Given the description of an element on the screen output the (x, y) to click on. 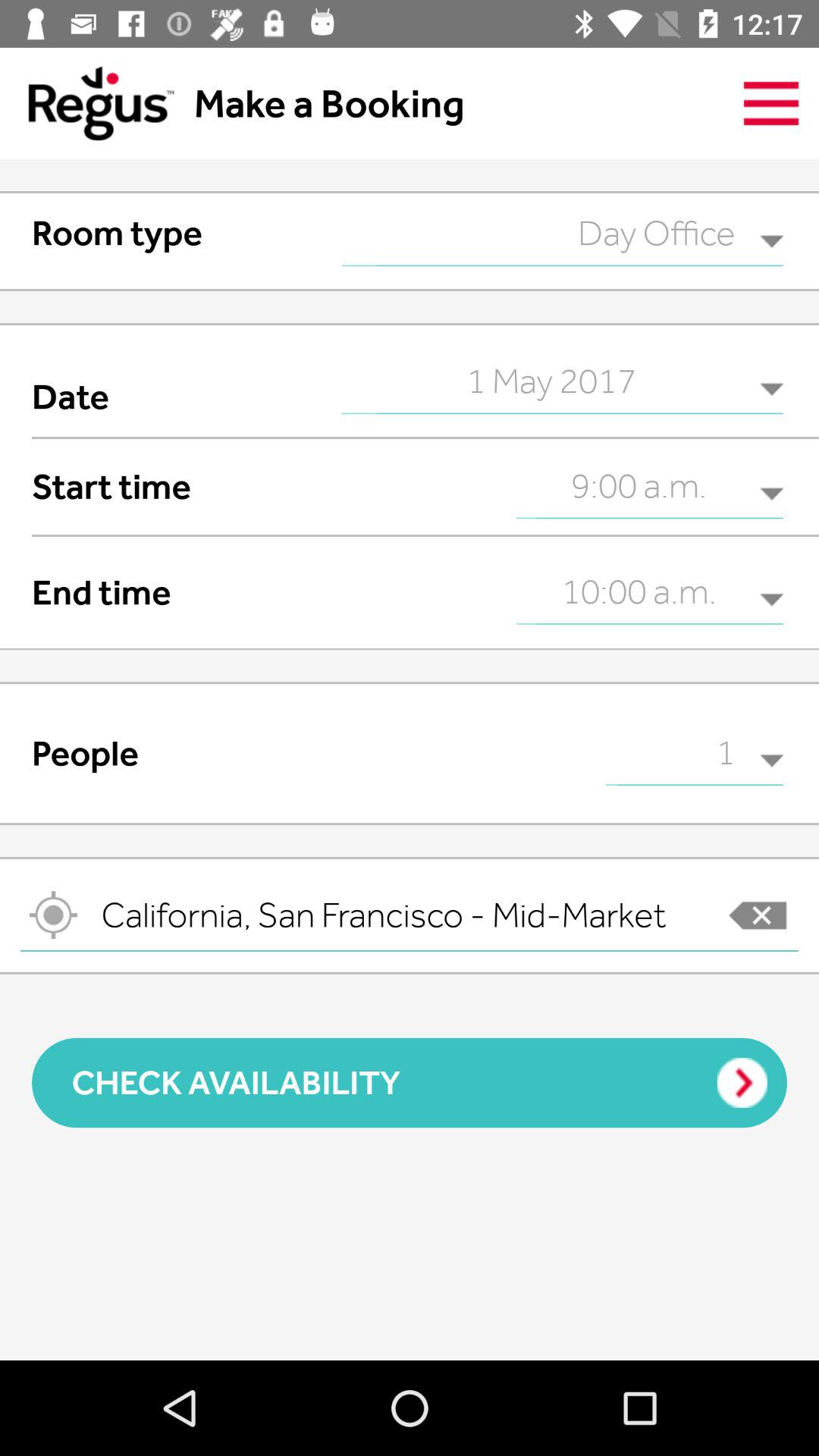
app home button (87, 103)
